Given the description of an element on the screen output the (x, y) to click on. 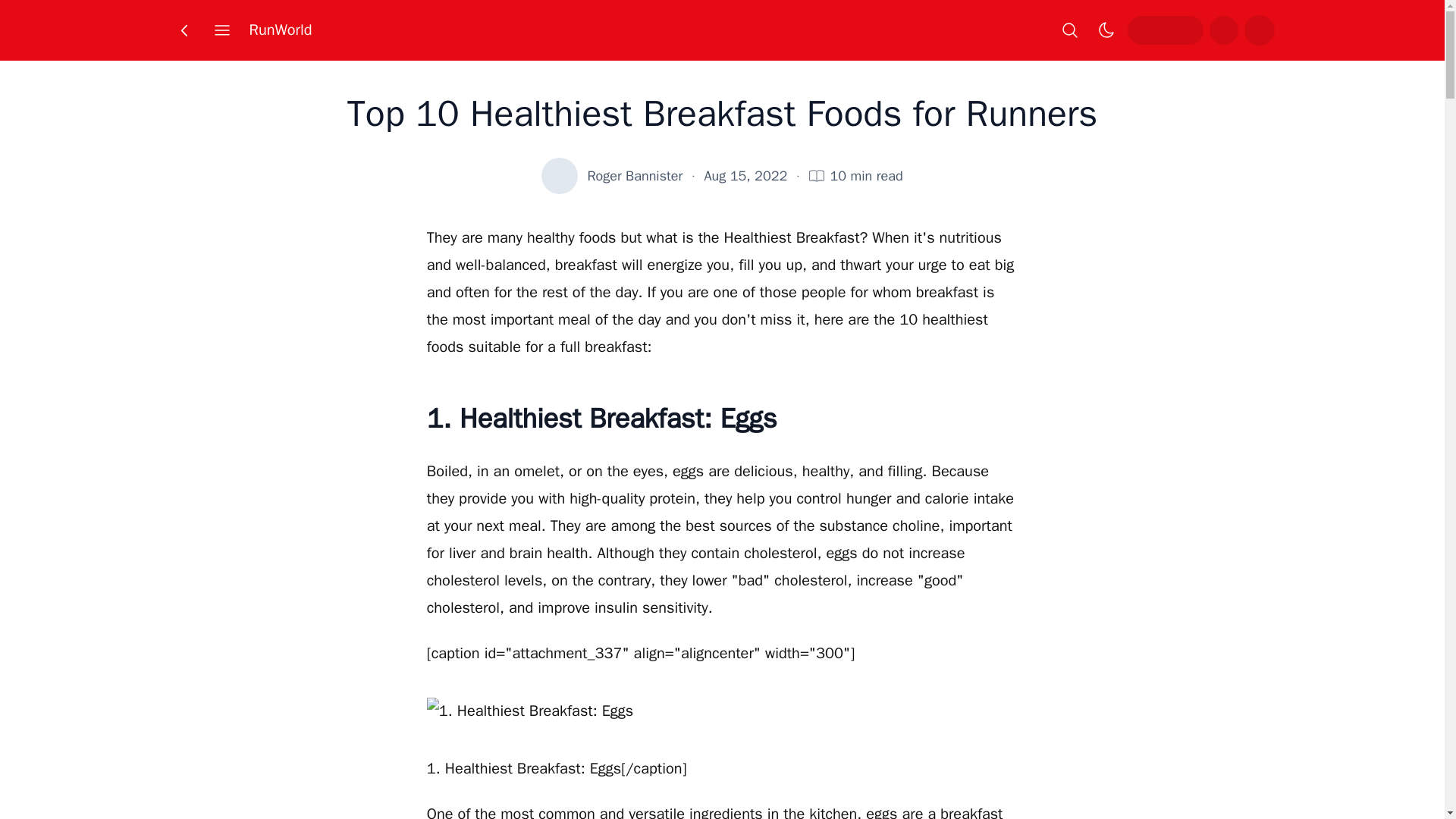
Aug 15, 2022 (745, 175)
Roger Bannister (634, 175)
RunWorld (279, 29)
